Given the description of an element on the screen output the (x, y) to click on. 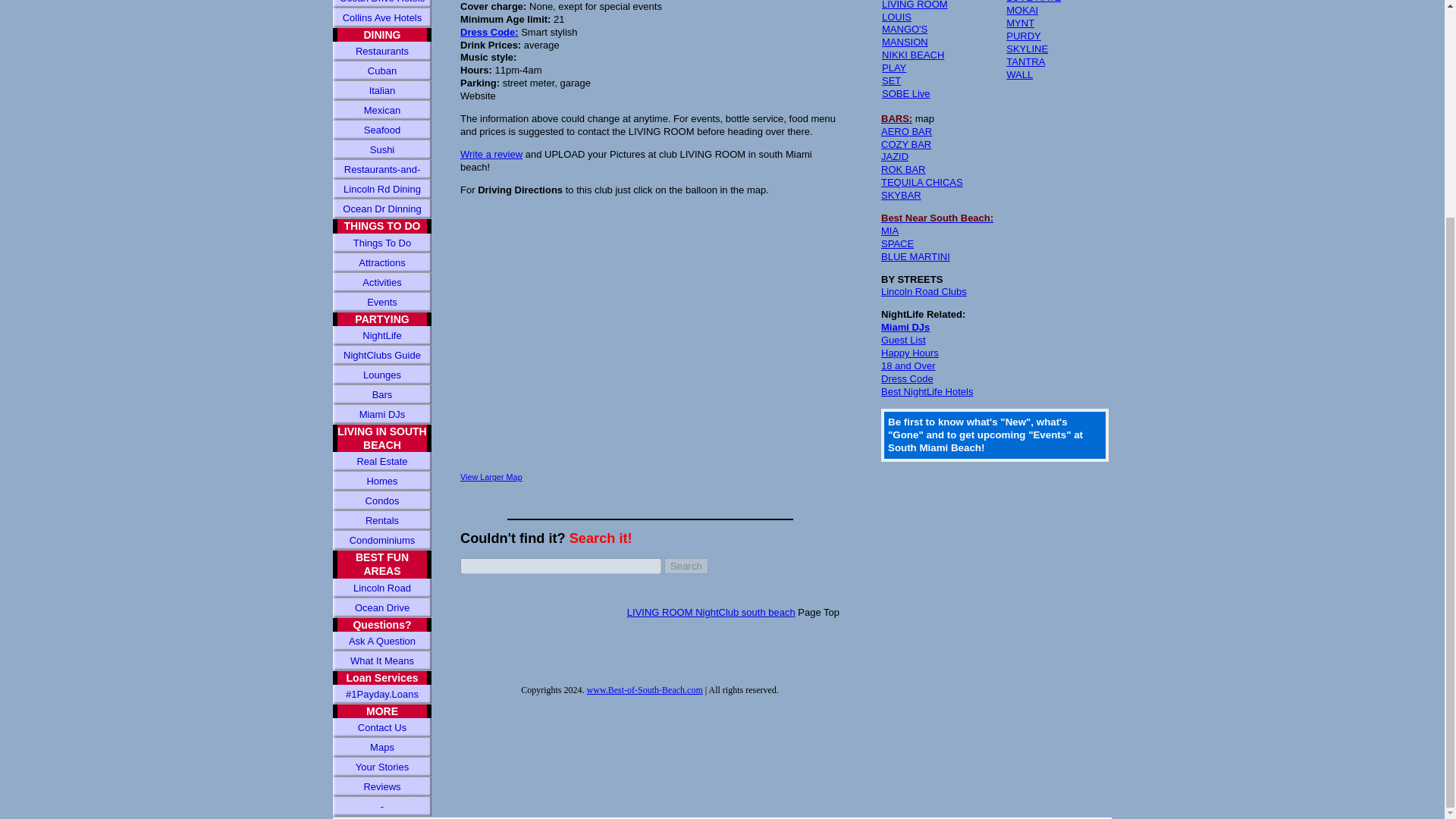
Mexican (381, 110)
Sushi (381, 149)
Ocean Drive (381, 608)
Ask A Question (381, 641)
Attractions (381, 262)
Lincoln Rd Dining (381, 189)
Rentals (381, 520)
Online loans for US residents at 1Payday.loans (381, 694)
Your Stories (381, 767)
Condominiums (381, 540)
NightClubs Guide (381, 355)
Restaurants-and-clubs (381, 169)
Lounges (381, 374)
Ocean Drive Hotels (381, 4)
Maps (381, 747)
